Given the description of an element on the screen output the (x, y) to click on. 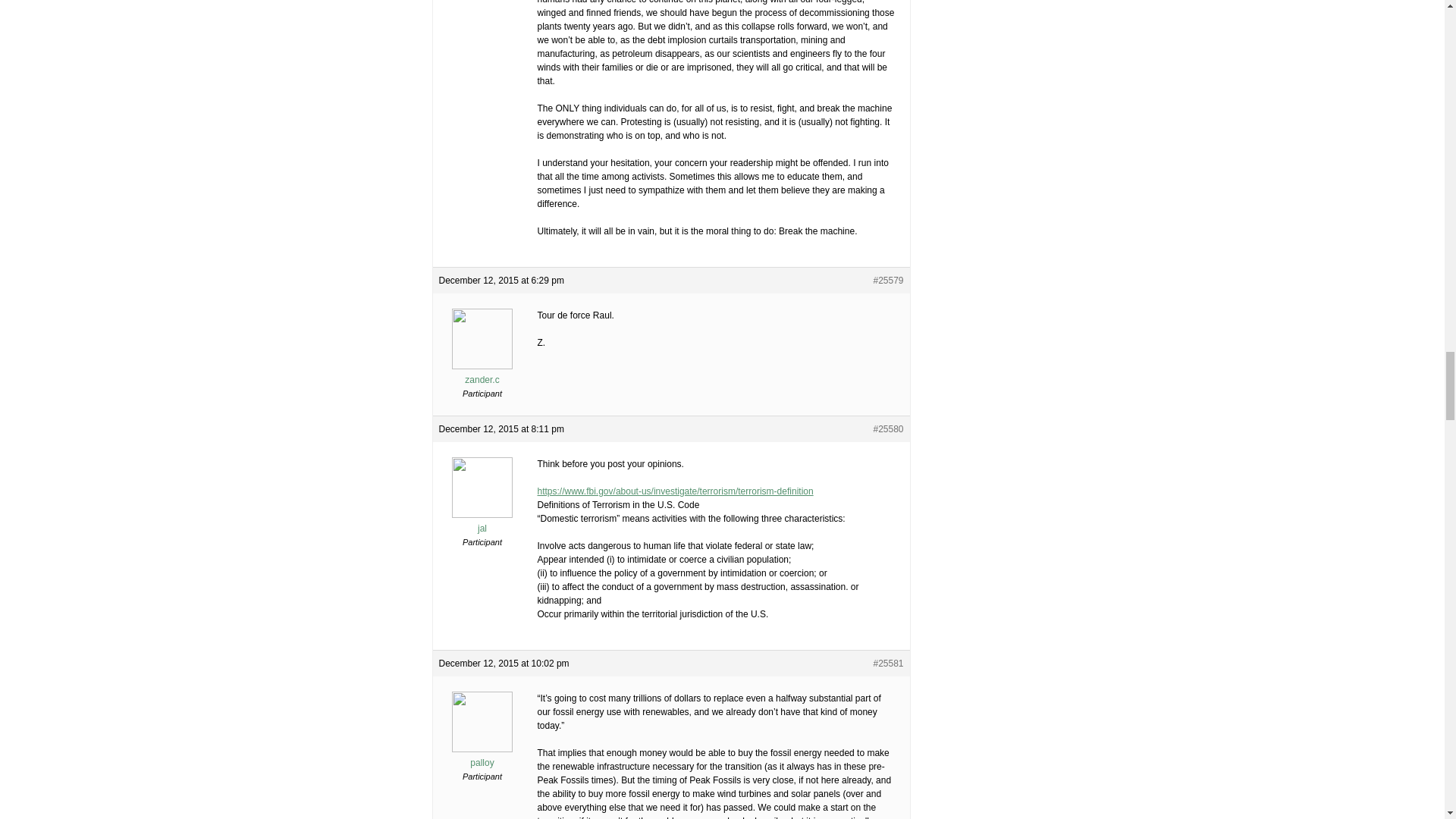
View palloy's profile (481, 756)
View jal's profile (481, 522)
View zander.c's profile (481, 373)
